Given the description of an element on the screen output the (x, y) to click on. 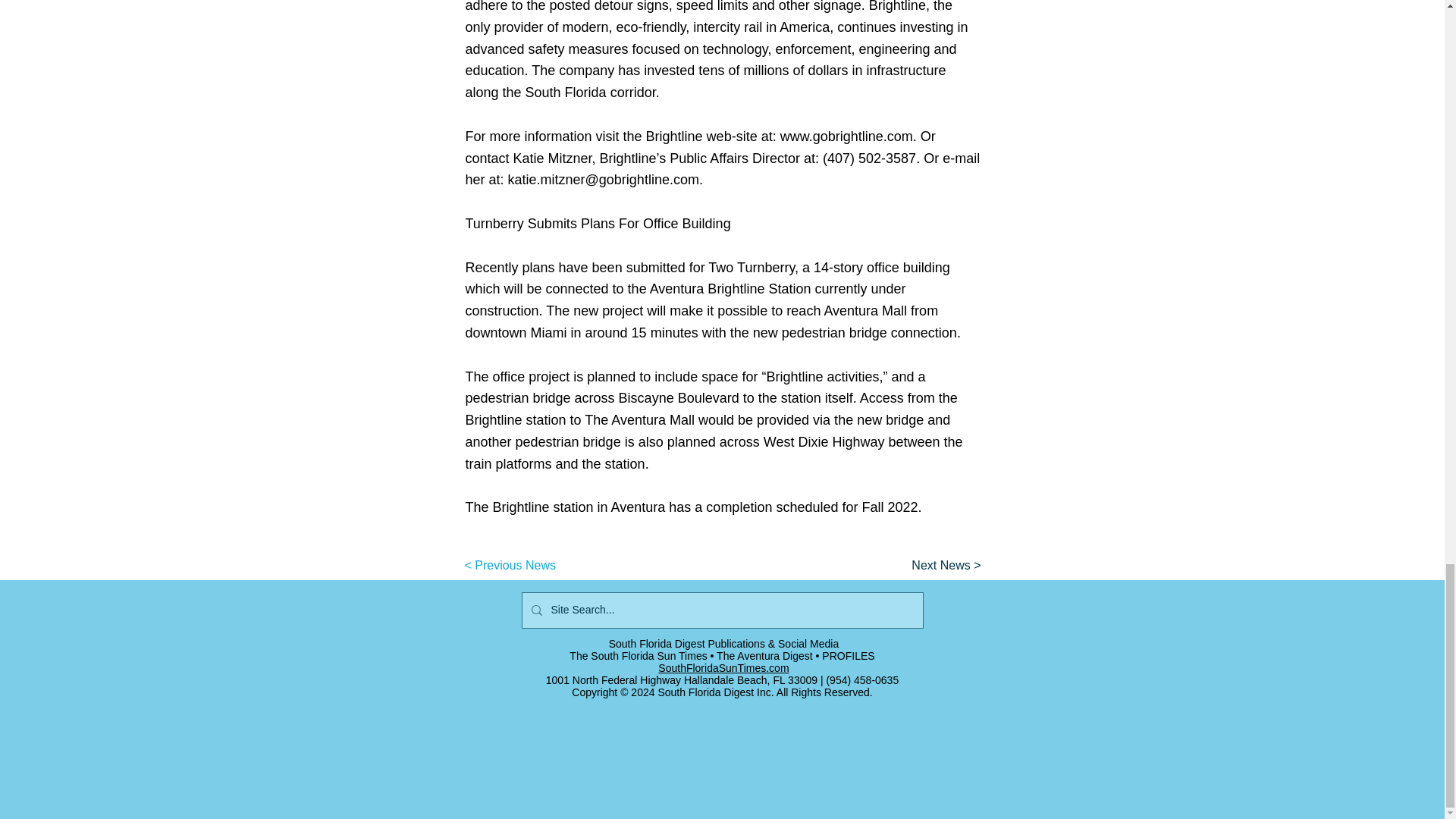
www.gobrightline.com (846, 136)
SouthFloridaSunTimes.com (723, 667)
